Given the description of an element on the screen output the (x, y) to click on. 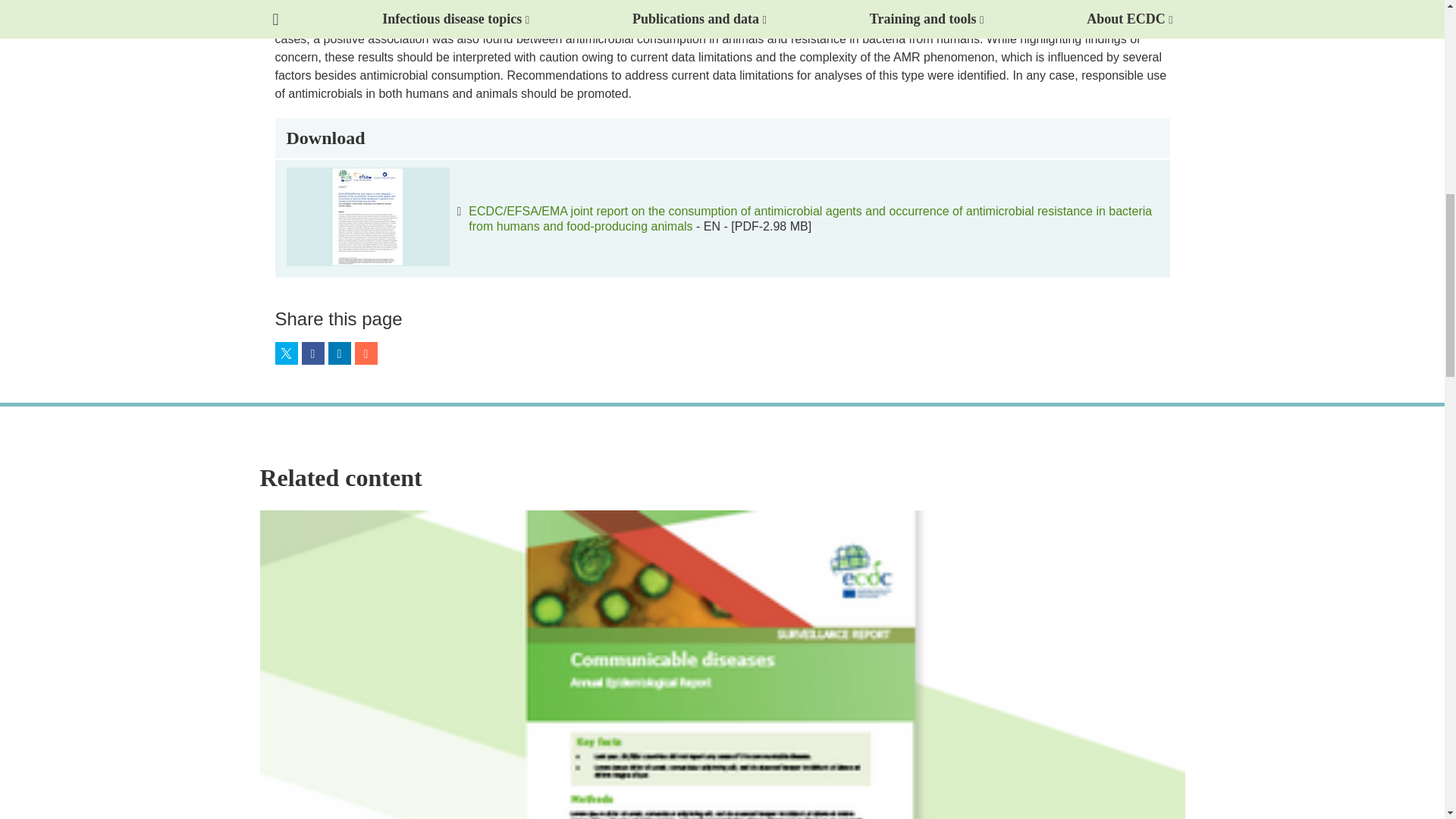
Open file in new window (809, 218)
